Given the description of an element on the screen output the (x, y) to click on. 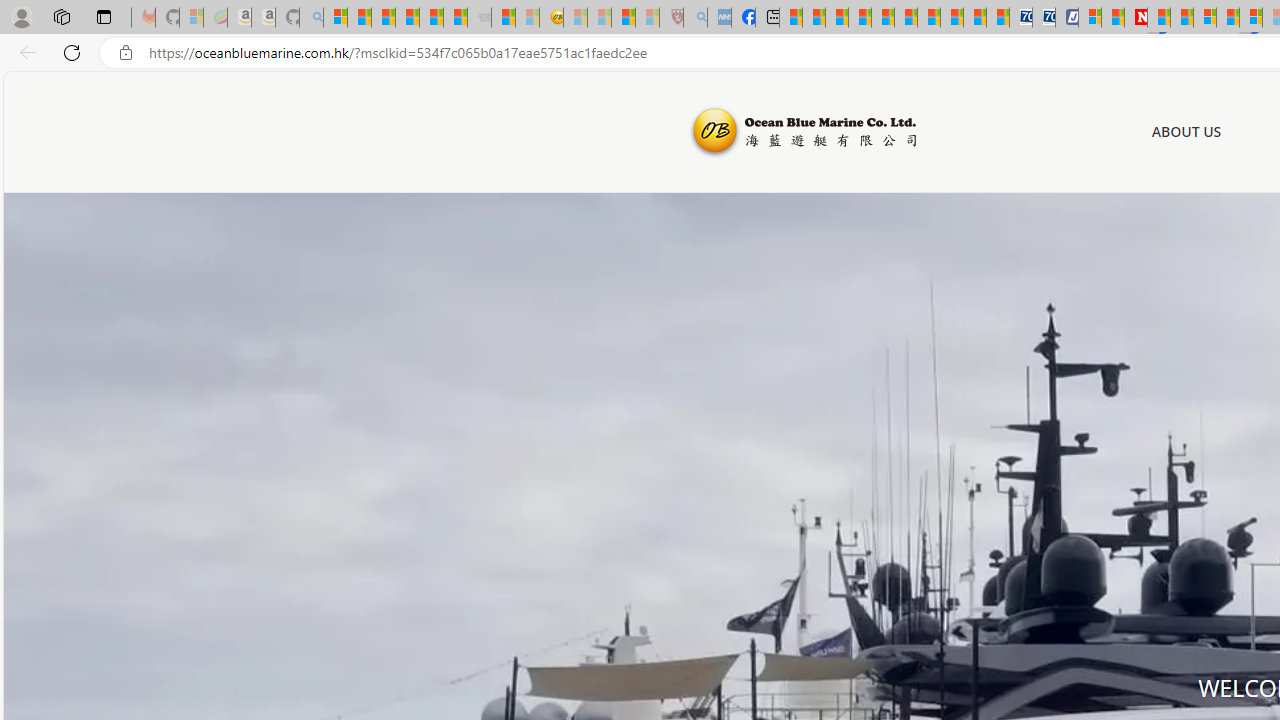
Latest Politics News & Archive | Newsweek.com (1135, 17)
Combat Siege - Sleeping (479, 17)
Ocean Blue Marine (801, 132)
ABOUT US (1186, 131)
Ocean Blue Marine (801, 132)
